Given the description of an element on the screen output the (x, y) to click on. 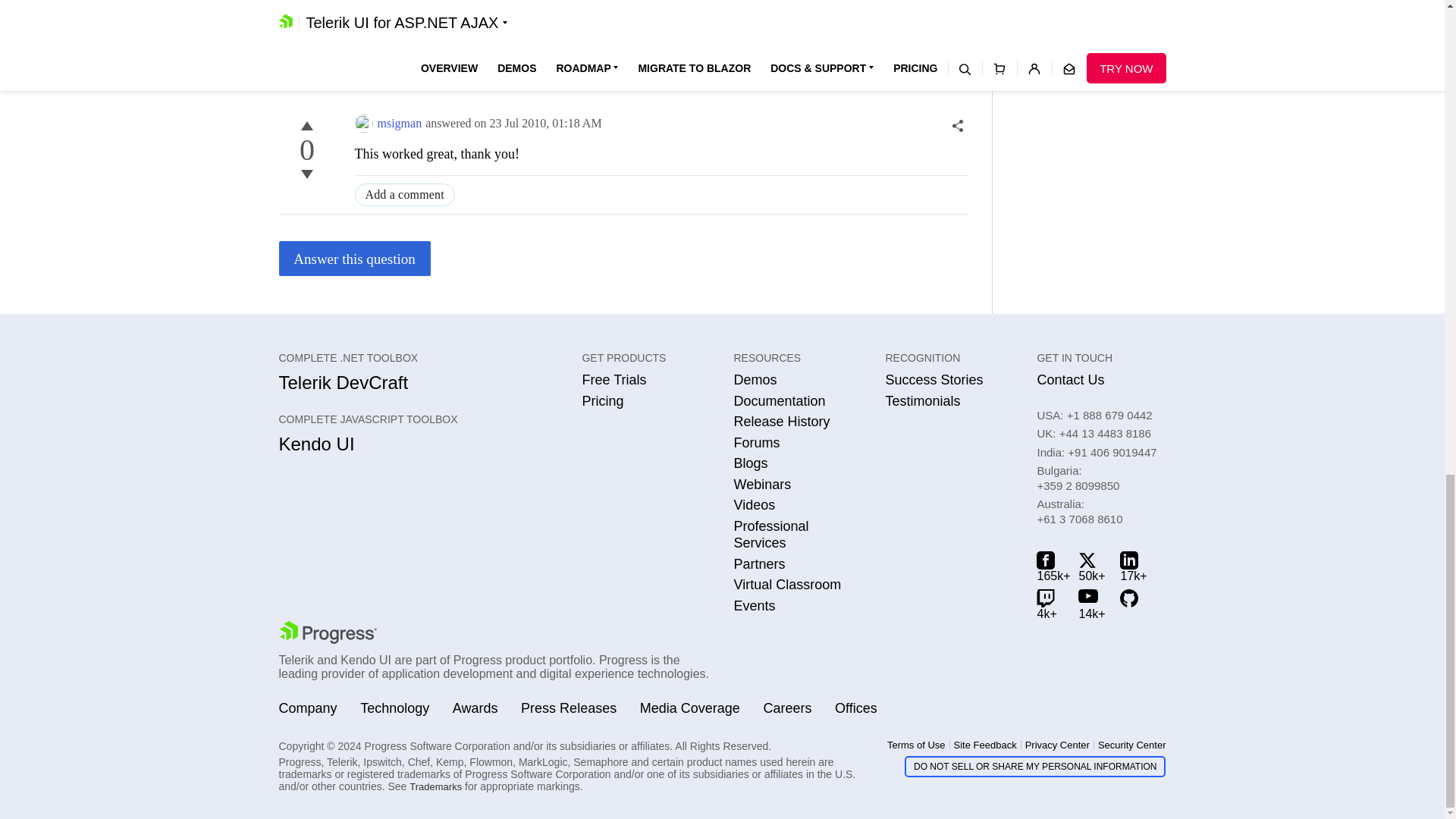
This answer is helpful. (306, 125)
GitHub (1133, 604)
Facebook (1049, 567)
YouTube (1091, 604)
X (1091, 567)
Twitch (1049, 604)
This answer is not helpful. (306, 173)
LinkedIn (1133, 567)
